Given the description of an element on the screen output the (x, y) to click on. 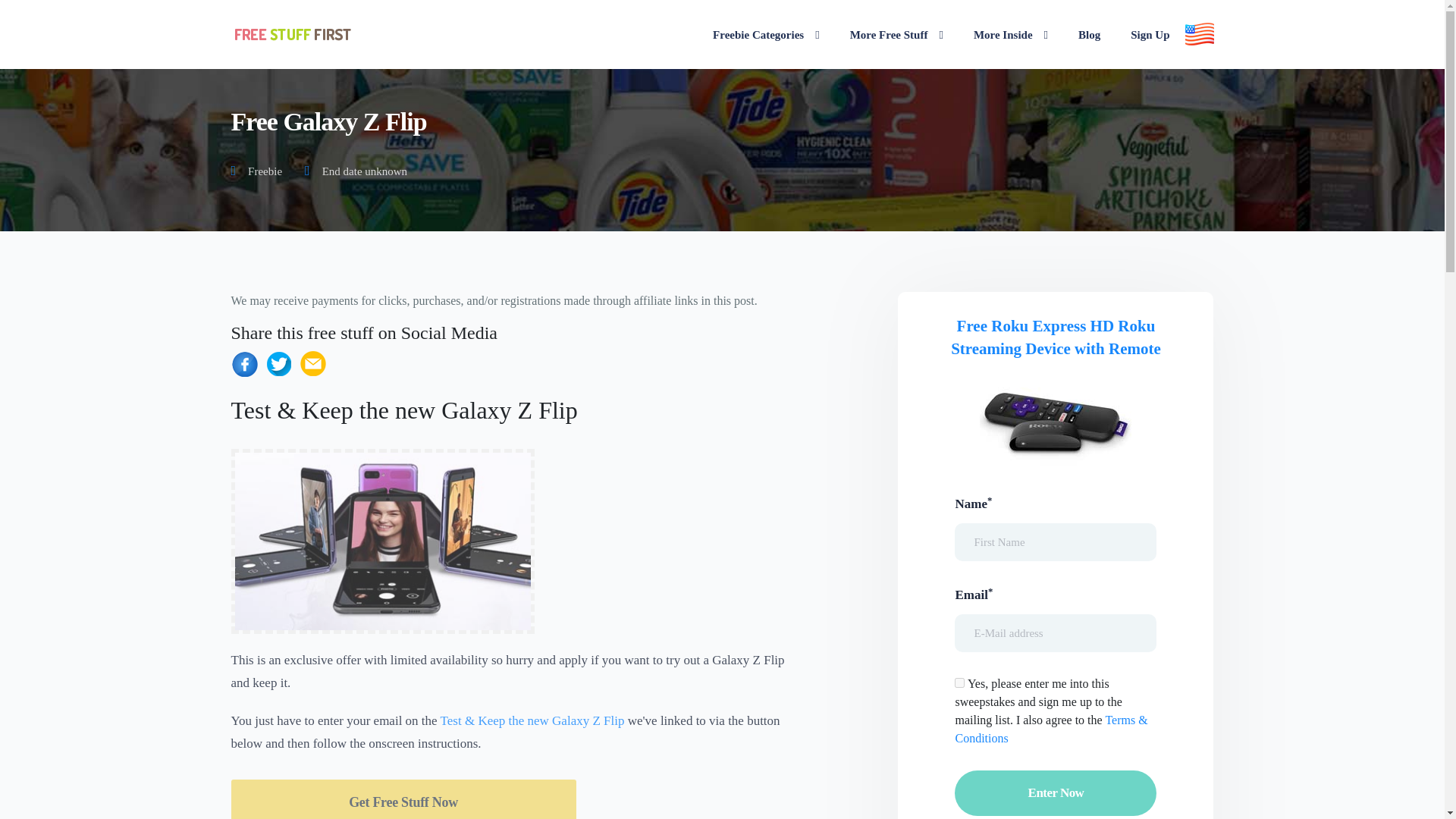
More Inside (1010, 34)
Freebie Categories (765, 34)
yes (959, 682)
More Free Stuff (896, 34)
